Given the description of an element on the screen output the (x, y) to click on. 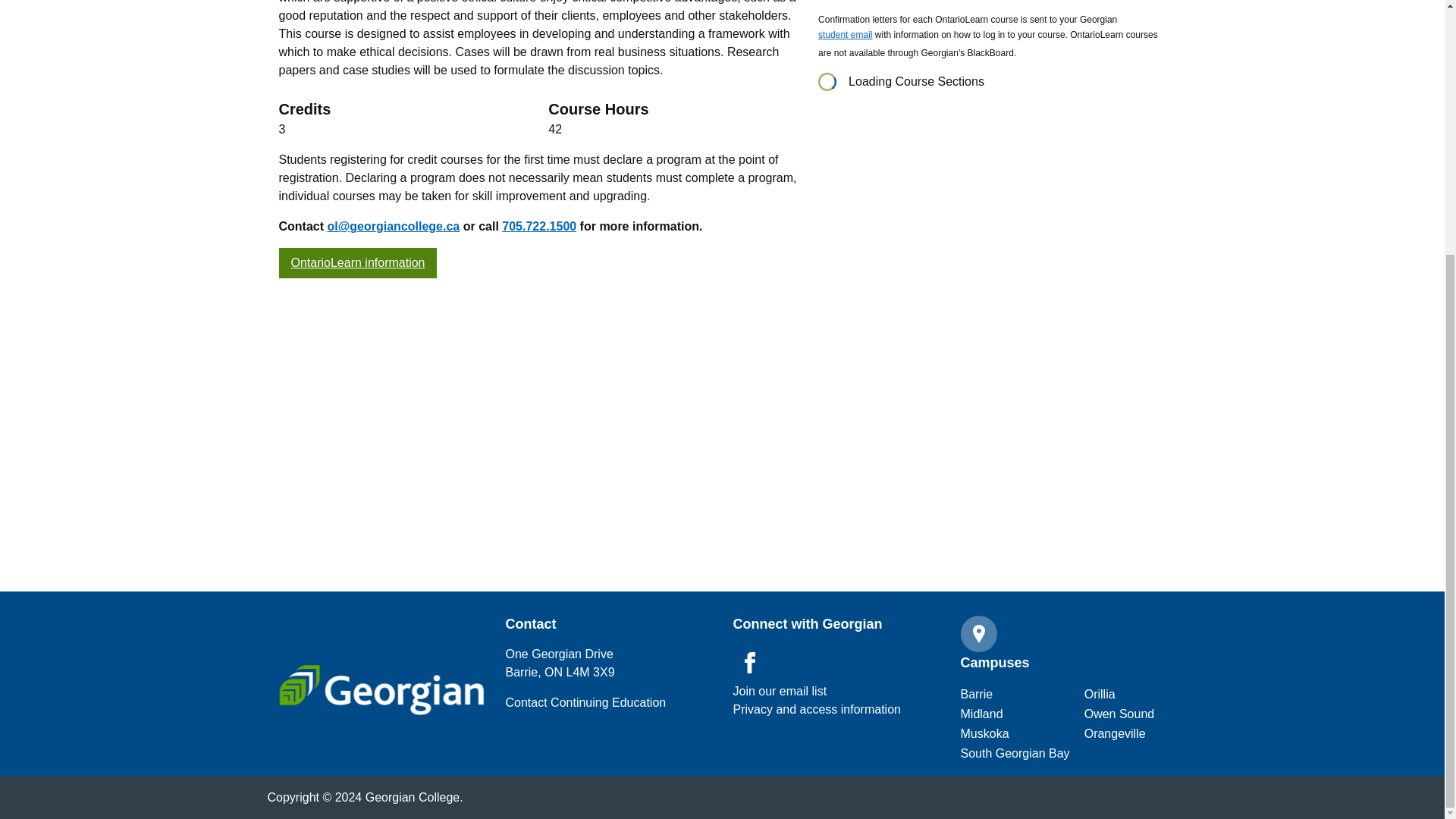
Privacy and access information (815, 710)
Georgian College (380, 689)
Contact Us (585, 701)
OntarioLearn (358, 263)
Georgian College Student Email (845, 36)
Privacy and access information (779, 691)
